Given the description of an element on the screen output the (x, y) to click on. 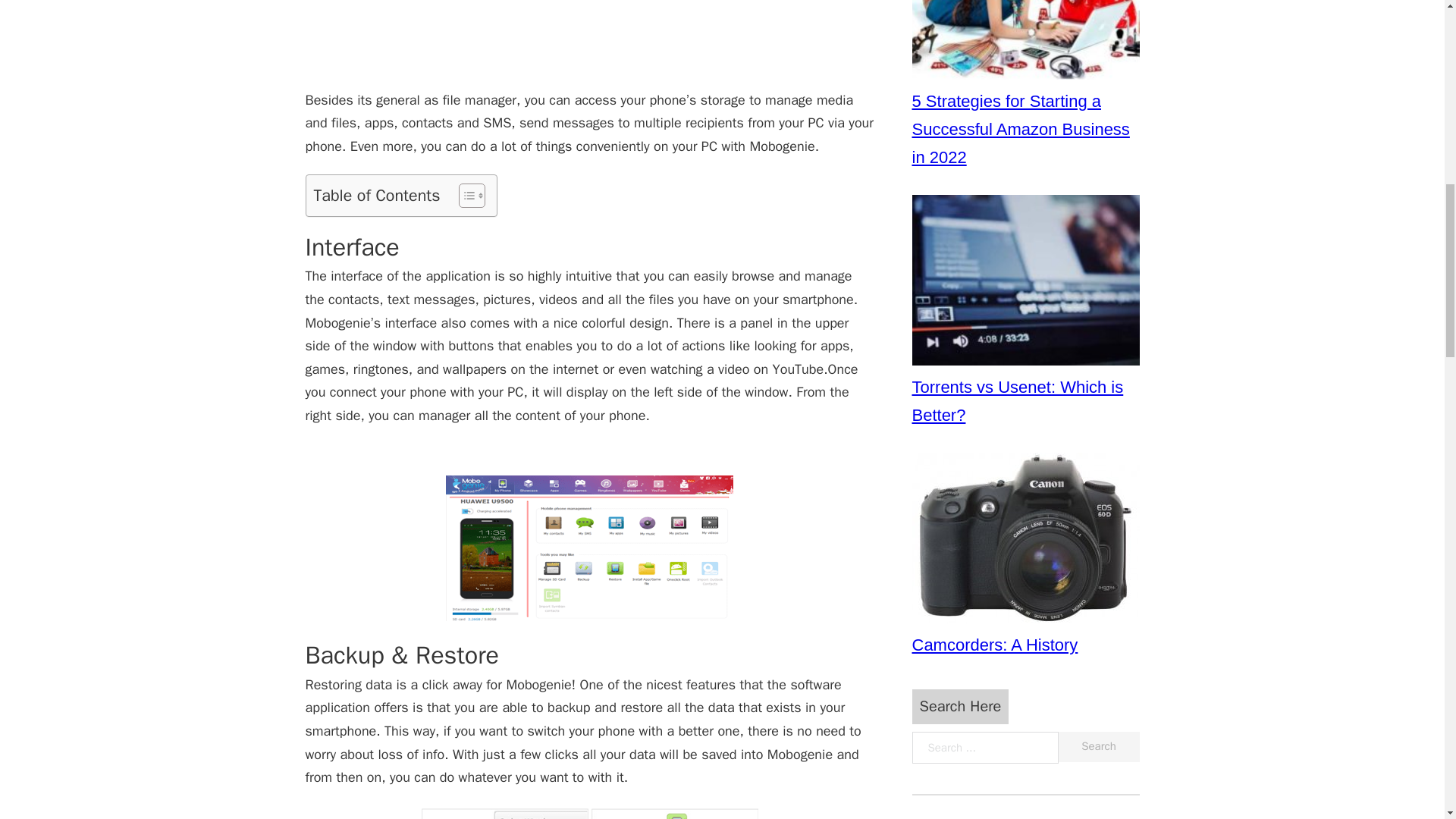
Advertisement (588, 44)
